Given the description of an element on the screen output the (x, y) to click on. 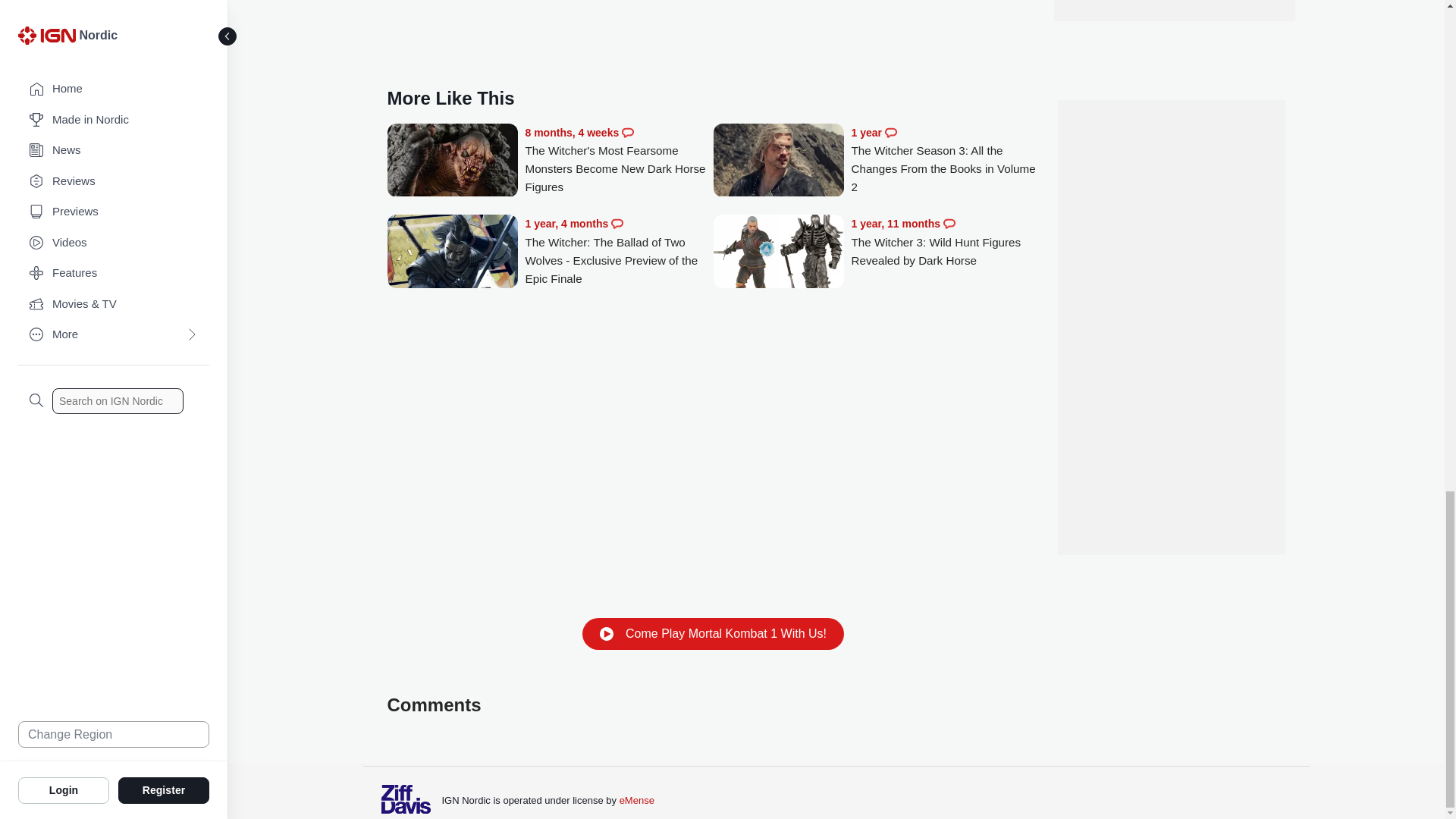
The Witcher 3: Wild Hunt Figures Revealed by Dark Horse (778, 252)
Comments (617, 223)
The Witcher 3: Wild Hunt Figures Revealed by Dark Horse (944, 242)
Comments (890, 132)
Comments (627, 132)
Comments (949, 223)
